Given the description of an element on the screen output the (x, y) to click on. 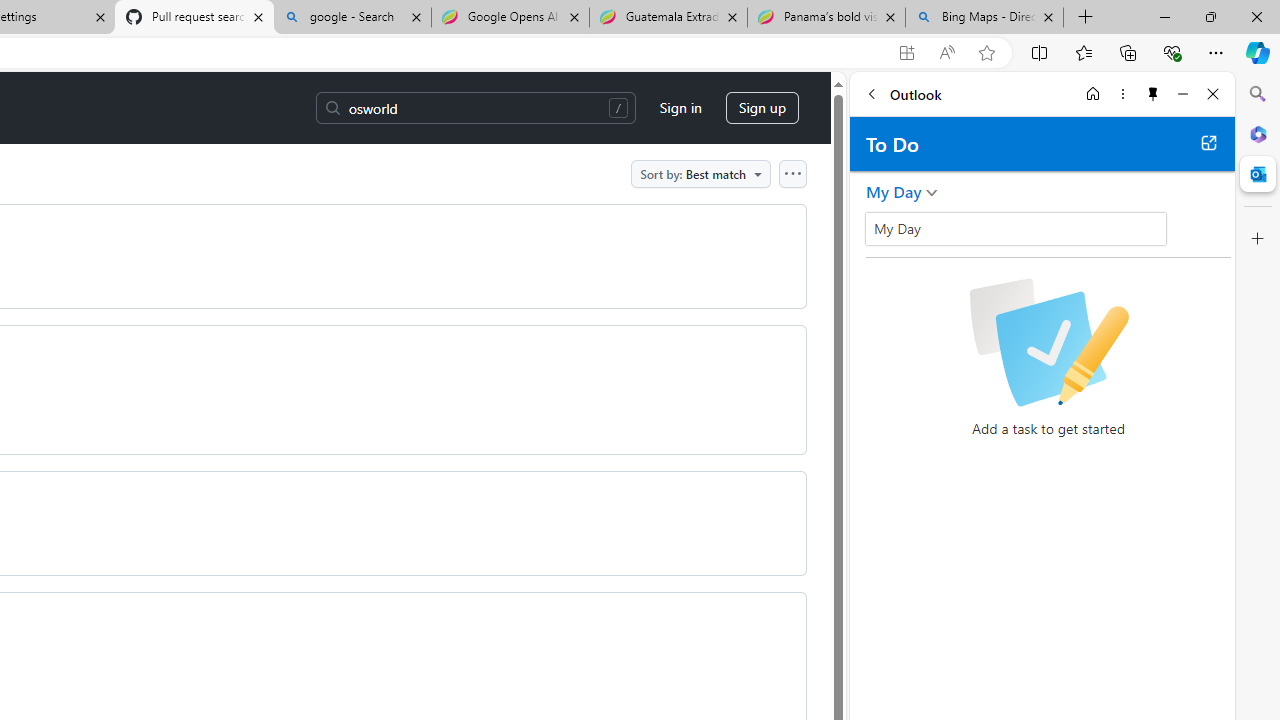
Google Opens AI Academy for Startups - Nearshore Americas (509, 17)
My Day (893, 191)
Checkbox with a pencil (1047, 342)
Class: wL_Ii70haOUOvHnsRwbD (1016, 228)
google - Search (352, 17)
Home (1093, 93)
More options (1122, 93)
Open in new tab (1208, 142)
Open column options (792, 173)
